Given the description of an element on the screen output the (x, y) to click on. 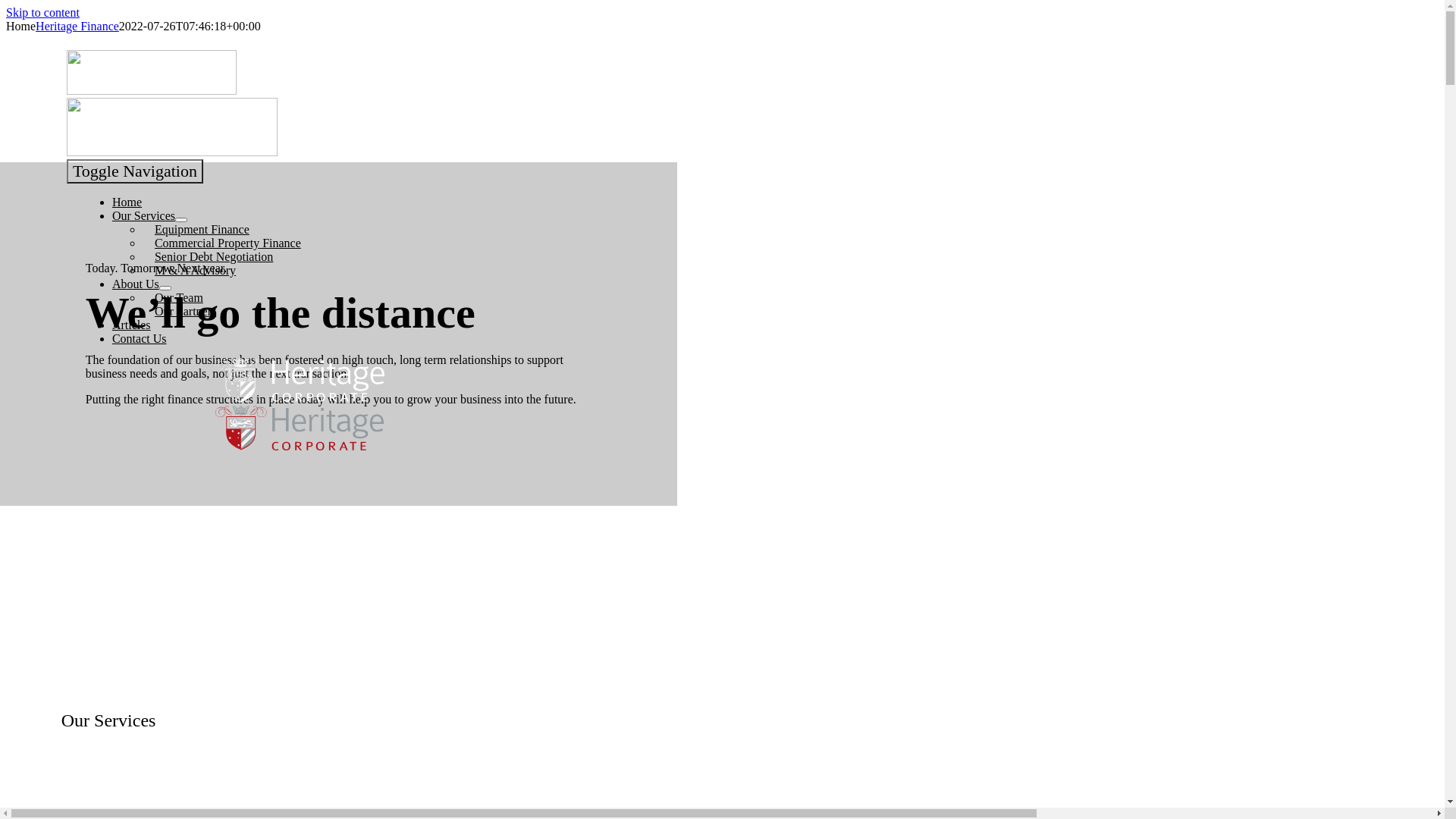
Our Services Element type: text (143, 215)
Contact Us Element type: text (139, 338)
Skip to content Element type: text (42, 12)
Equipment Finance Element type: text (201, 228)
About Us Element type: text (135, 283)
Our Team Element type: text (178, 297)
Heritage Finance Element type: text (77, 25)
Commercial Property Finance Element type: text (227, 242)
Toggle Navigation Element type: text (134, 171)
M & A Advisory Element type: text (194, 269)
Senior Debt Negotiation Element type: text (213, 256)
Home Element type: text (126, 201)
Articles Element type: text (131, 324)
Our Partners Element type: text (185, 310)
